Given the description of an element on the screen output the (x, y) to click on. 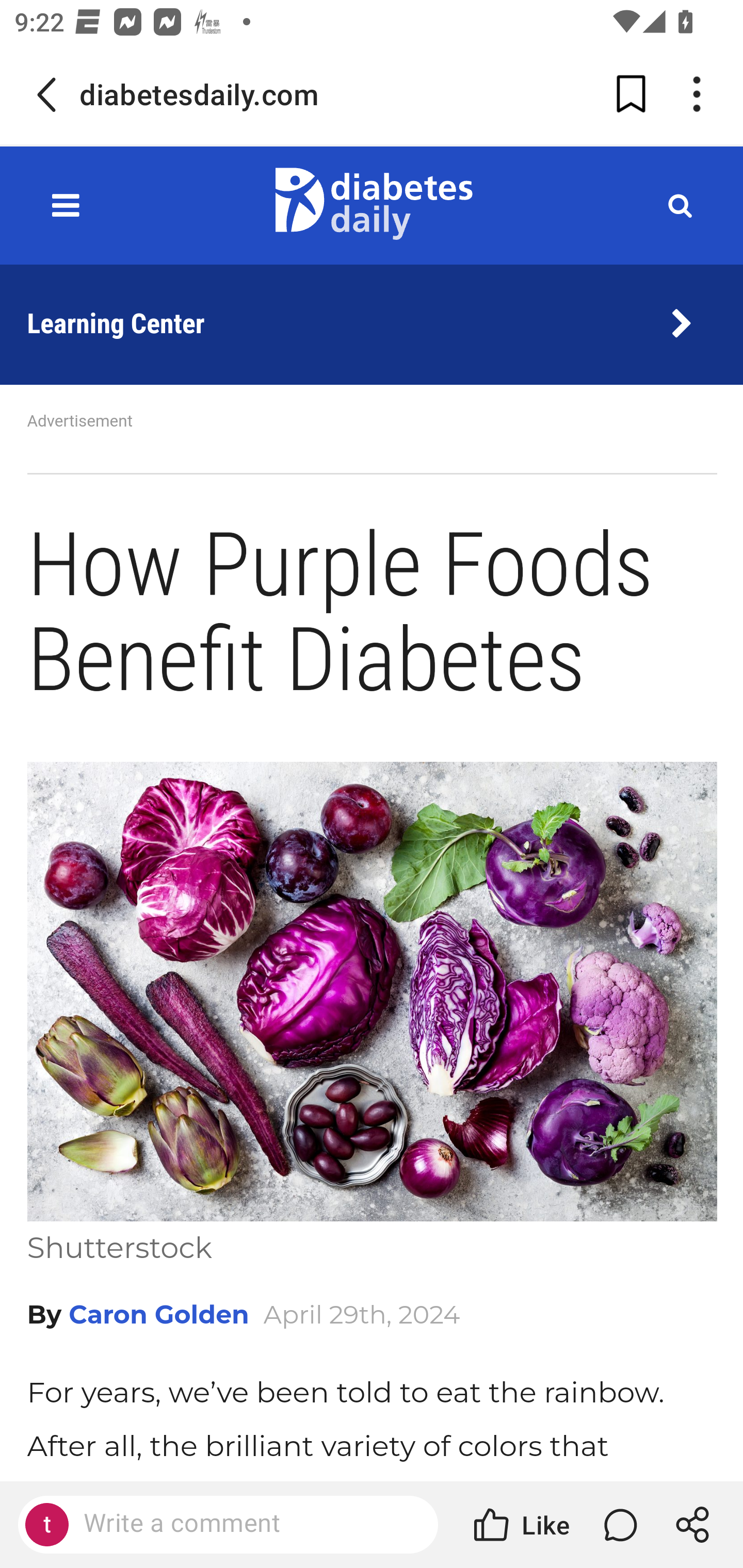
Like (519, 1524)
Write a comment (245, 1523)
